Given the description of an element on the screen output the (x, y) to click on. 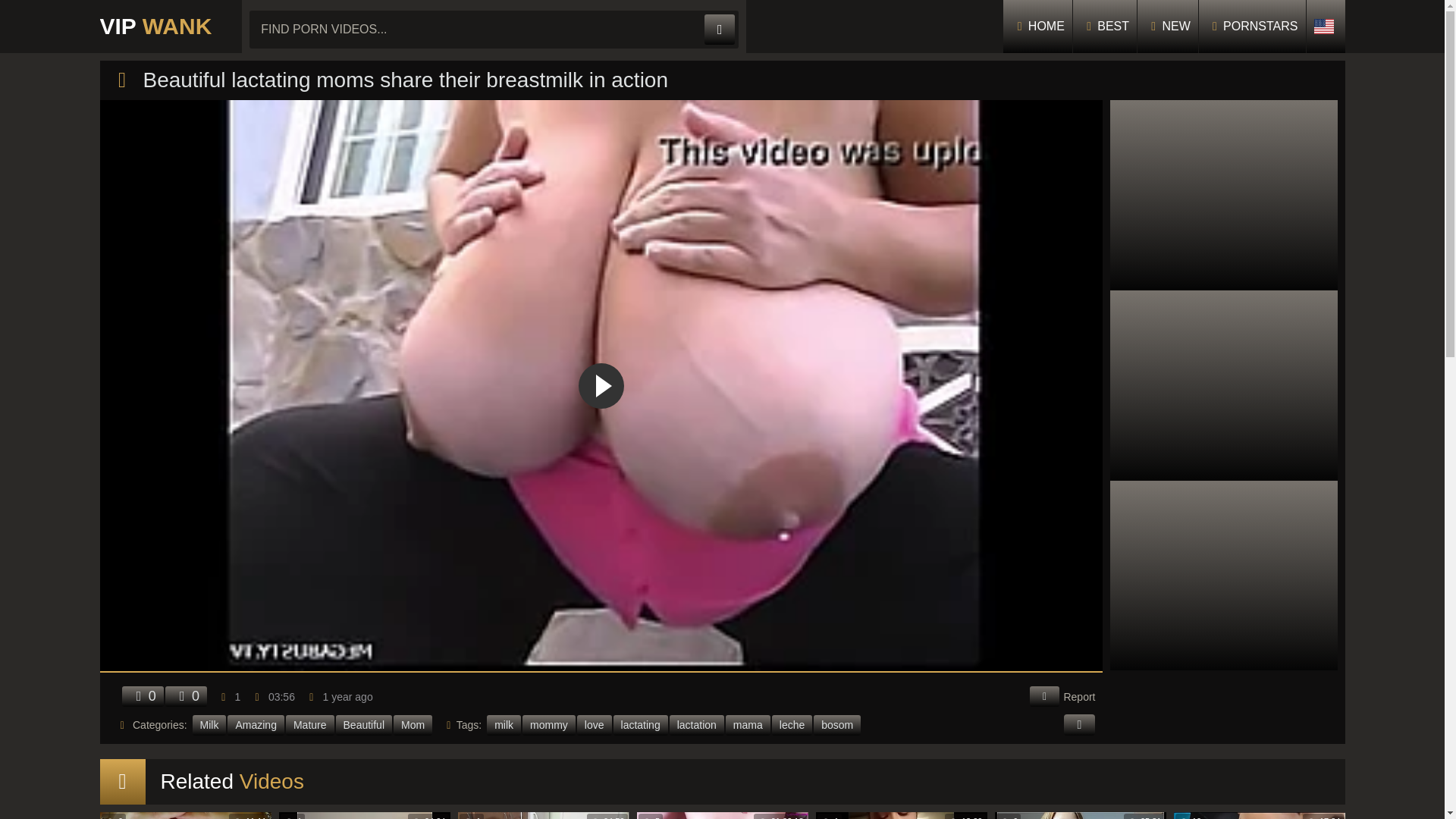
mommy (548, 724)
lactation (696, 724)
BEST (1105, 26)
Dislike! (185, 696)
Find (719, 29)
mama (747, 724)
lactating (640, 724)
Mom (412, 724)
milk (503, 724)
Like! (141, 696)
